Given the description of an element on the screen output the (x, y) to click on. 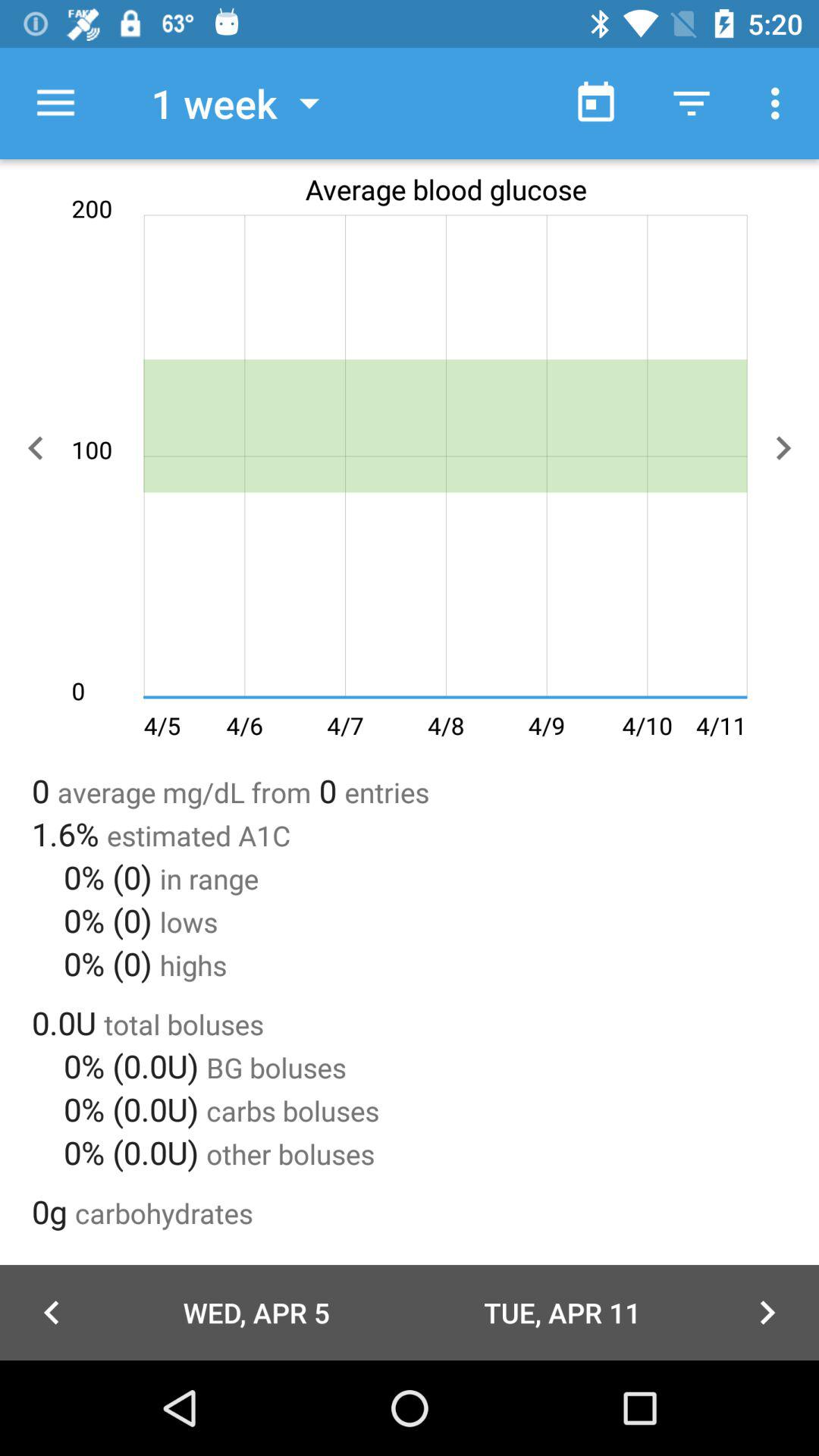
turn off item next to the 1 week icon (55, 103)
